Given the description of an element on the screen output the (x, y) to click on. 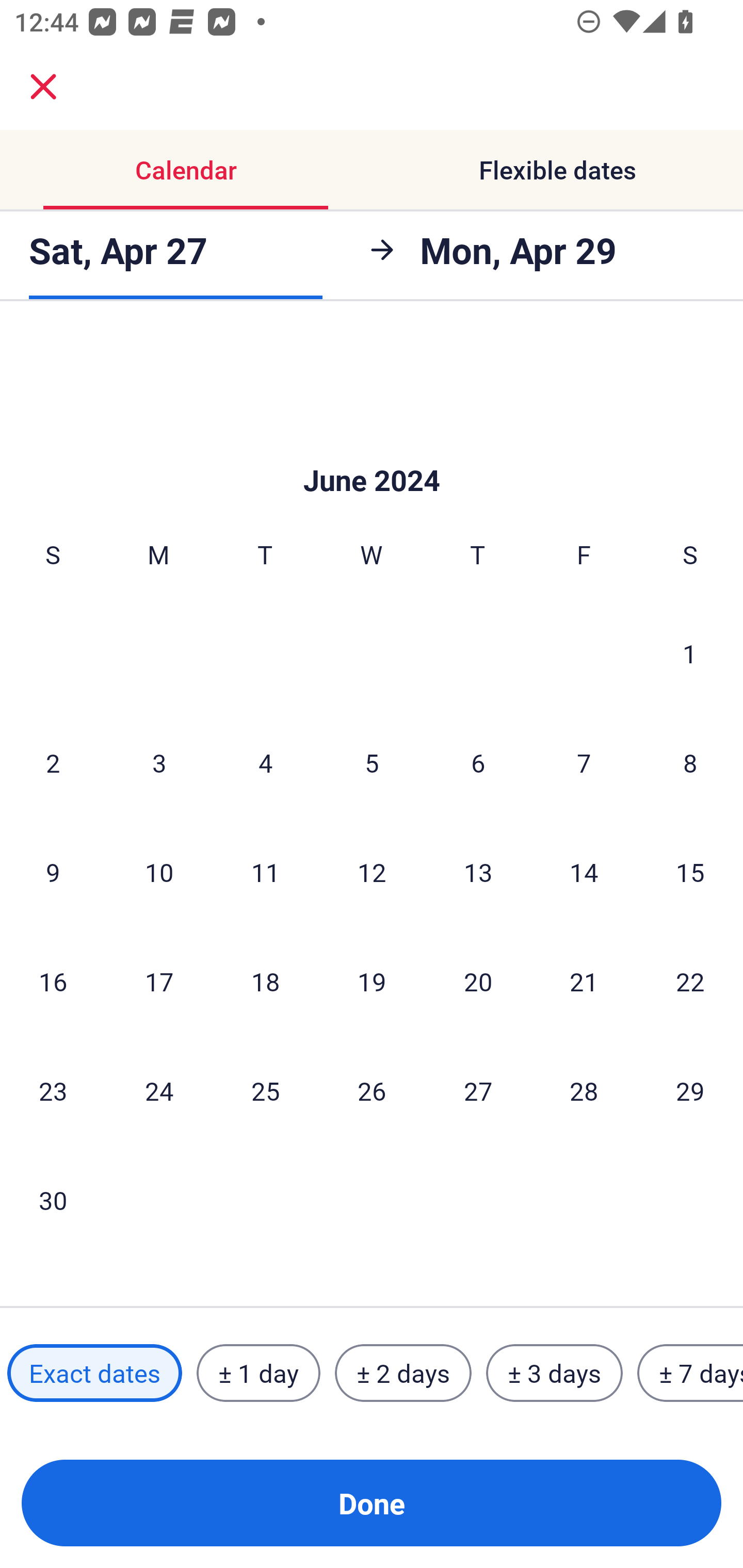
close. (43, 86)
Flexible dates (557, 170)
Skip to Done (371, 449)
1 Saturday, June 1, 2024 (689, 652)
2 Sunday, June 2, 2024 (53, 762)
3 Monday, June 3, 2024 (159, 762)
4 Tuesday, June 4, 2024 (265, 762)
5 Wednesday, June 5, 2024 (371, 762)
6 Thursday, June 6, 2024 (477, 762)
7 Friday, June 7, 2024 (584, 762)
8 Saturday, June 8, 2024 (690, 762)
9 Sunday, June 9, 2024 (53, 871)
10 Monday, June 10, 2024 (159, 871)
11 Tuesday, June 11, 2024 (265, 871)
12 Wednesday, June 12, 2024 (371, 871)
13 Thursday, June 13, 2024 (477, 871)
14 Friday, June 14, 2024 (584, 871)
15 Saturday, June 15, 2024 (690, 871)
16 Sunday, June 16, 2024 (53, 981)
17 Monday, June 17, 2024 (159, 981)
18 Tuesday, June 18, 2024 (265, 981)
19 Wednesday, June 19, 2024 (371, 981)
20 Thursday, June 20, 2024 (477, 981)
21 Friday, June 21, 2024 (584, 981)
22 Saturday, June 22, 2024 (690, 981)
23 Sunday, June 23, 2024 (53, 1090)
24 Monday, June 24, 2024 (159, 1090)
25 Tuesday, June 25, 2024 (265, 1090)
26 Wednesday, June 26, 2024 (371, 1090)
27 Thursday, June 27, 2024 (477, 1090)
28 Friday, June 28, 2024 (584, 1090)
29 Saturday, June 29, 2024 (690, 1090)
30 Sunday, June 30, 2024 (53, 1199)
Exact dates (94, 1372)
± 1 day (258, 1372)
± 2 days (403, 1372)
± 3 days (553, 1372)
± 7 days (690, 1372)
Done (371, 1502)
